Given the description of an element on the screen output the (x, y) to click on. 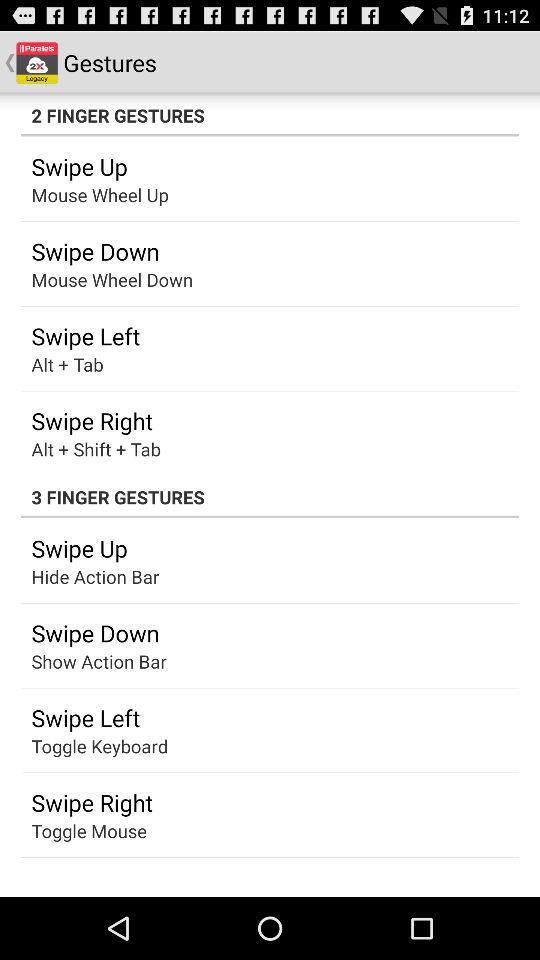
scroll until the show mouse item (84, 576)
